Given the description of an element on the screen output the (x, y) to click on. 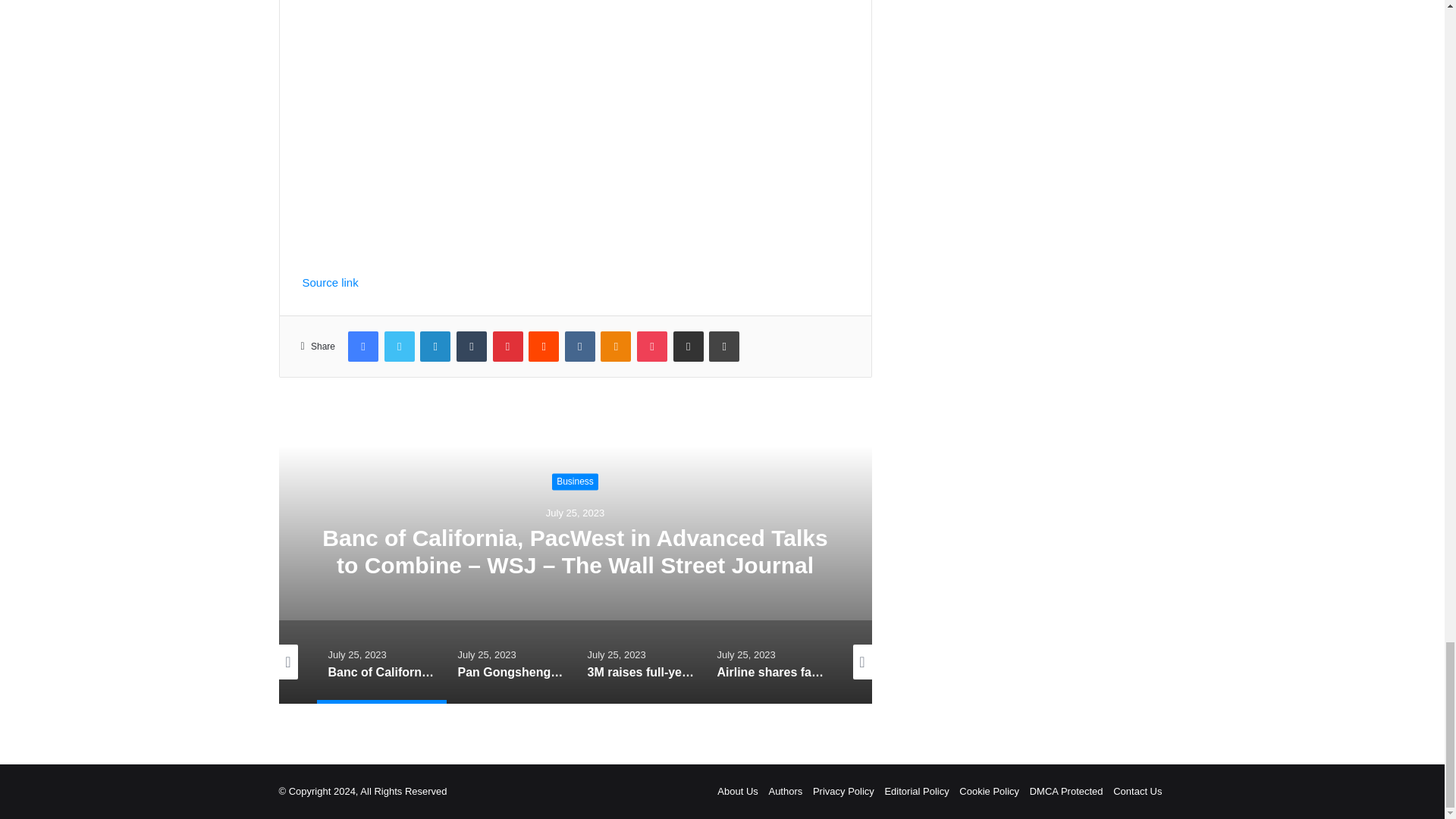
Share via Email (687, 346)
Pocket (651, 346)
Print (724, 346)
Twitter (399, 346)
Pinterest (507, 346)
Facebook (362, 346)
Business (574, 482)
Source link (329, 282)
VKontakte (579, 346)
Tumblr (471, 346)
